Given the description of an element on the screen output the (x, y) to click on. 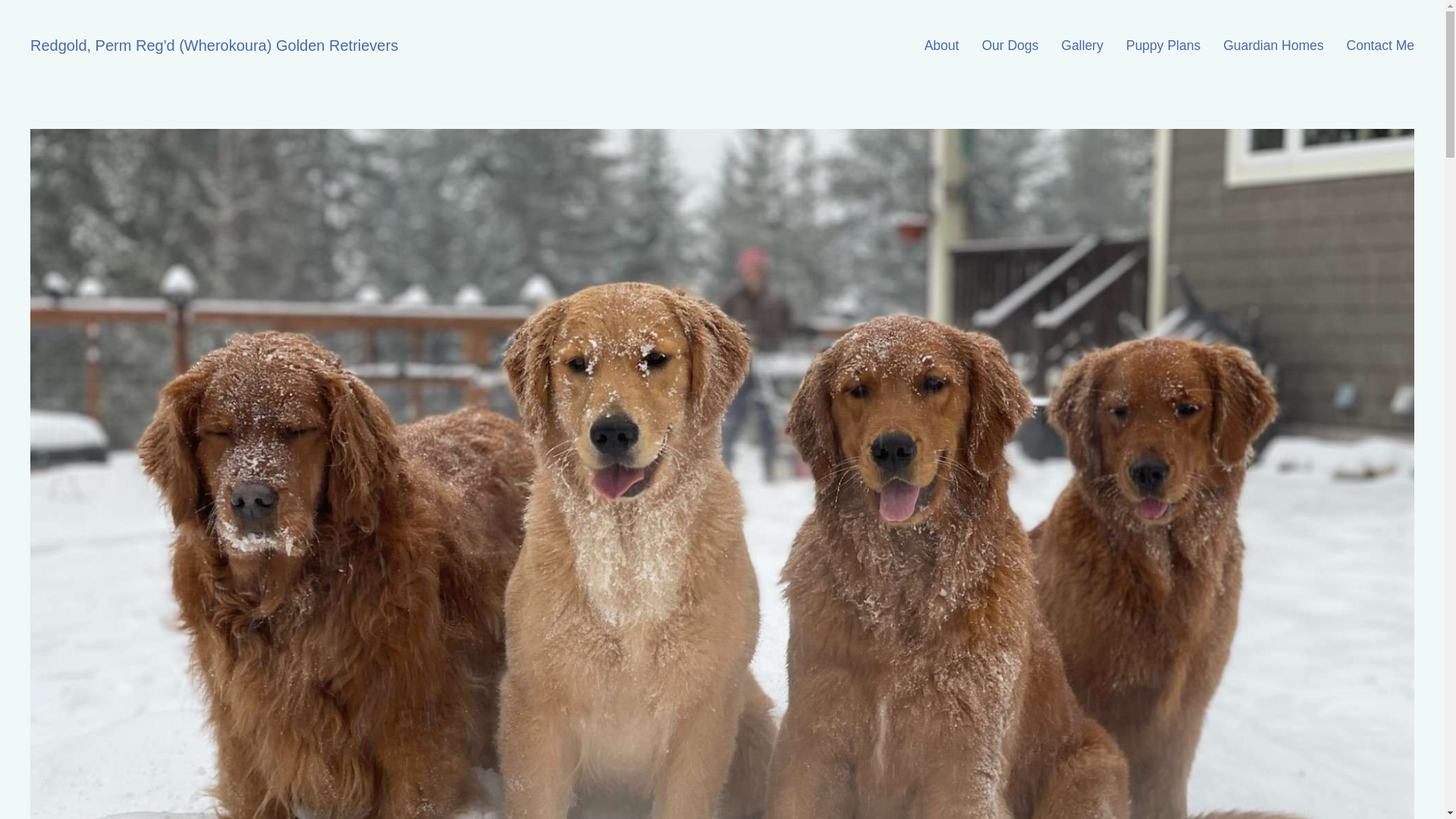
Gallery (1082, 45)
Puppy Plans (1163, 45)
About (941, 45)
Our Dogs (1010, 45)
Contact me (1380, 45)
Puppy Plans (1163, 45)
Contact Me (1380, 45)
Gallery (1082, 45)
About (941, 45)
Guardian Homes (1273, 45)
